Given the description of an element on the screen output the (x, y) to click on. 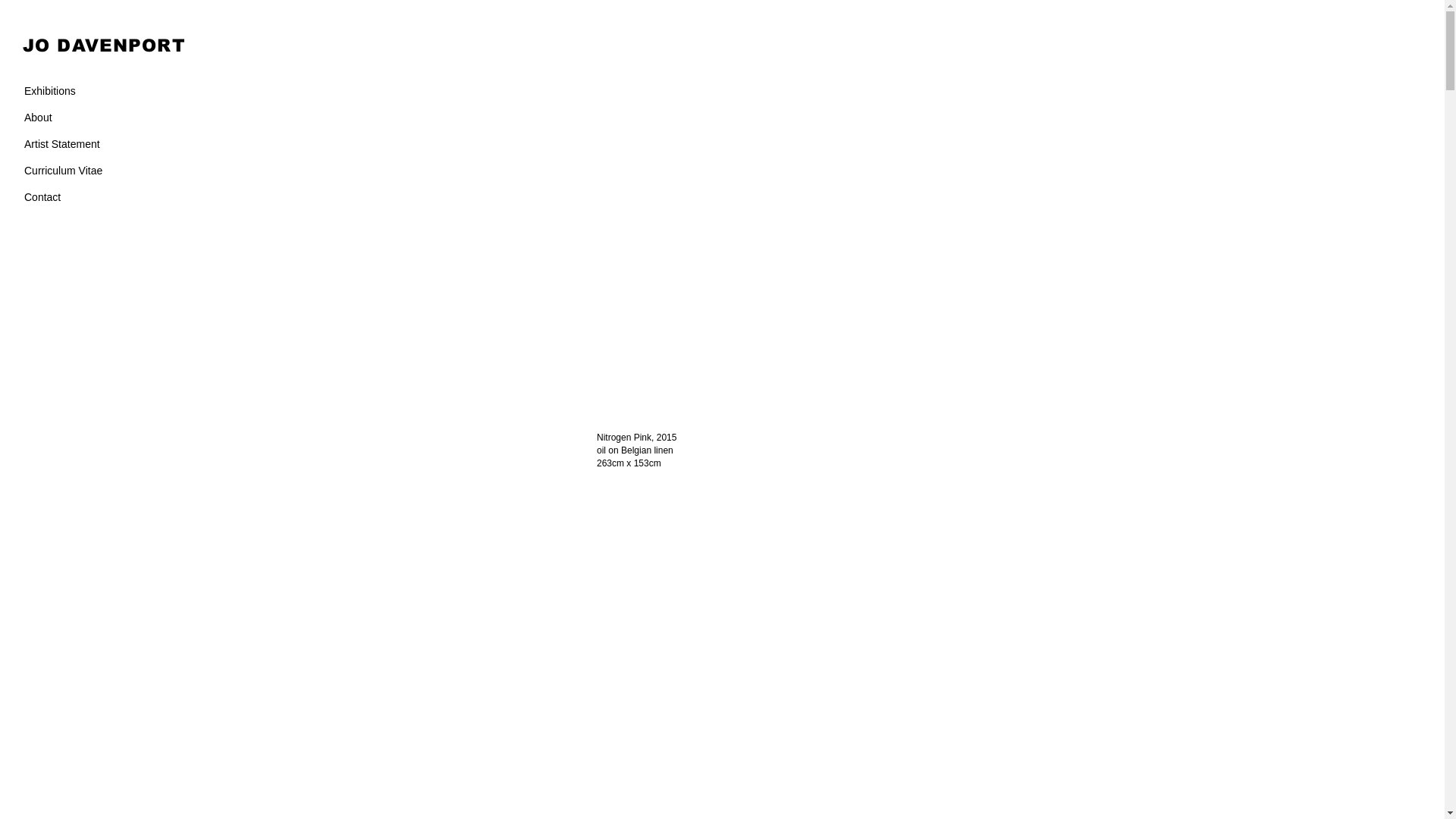
Contact Element type: text (95, 197)
Curriculum Vitae Element type: text (95, 170)
Exhibitions Element type: text (95, 91)
About Element type: text (95, 117)
JO DAVENPORT Element type: text (103, 45)
Artist Statement Element type: text (95, 144)
